Given the description of an element on the screen output the (x, y) to click on. 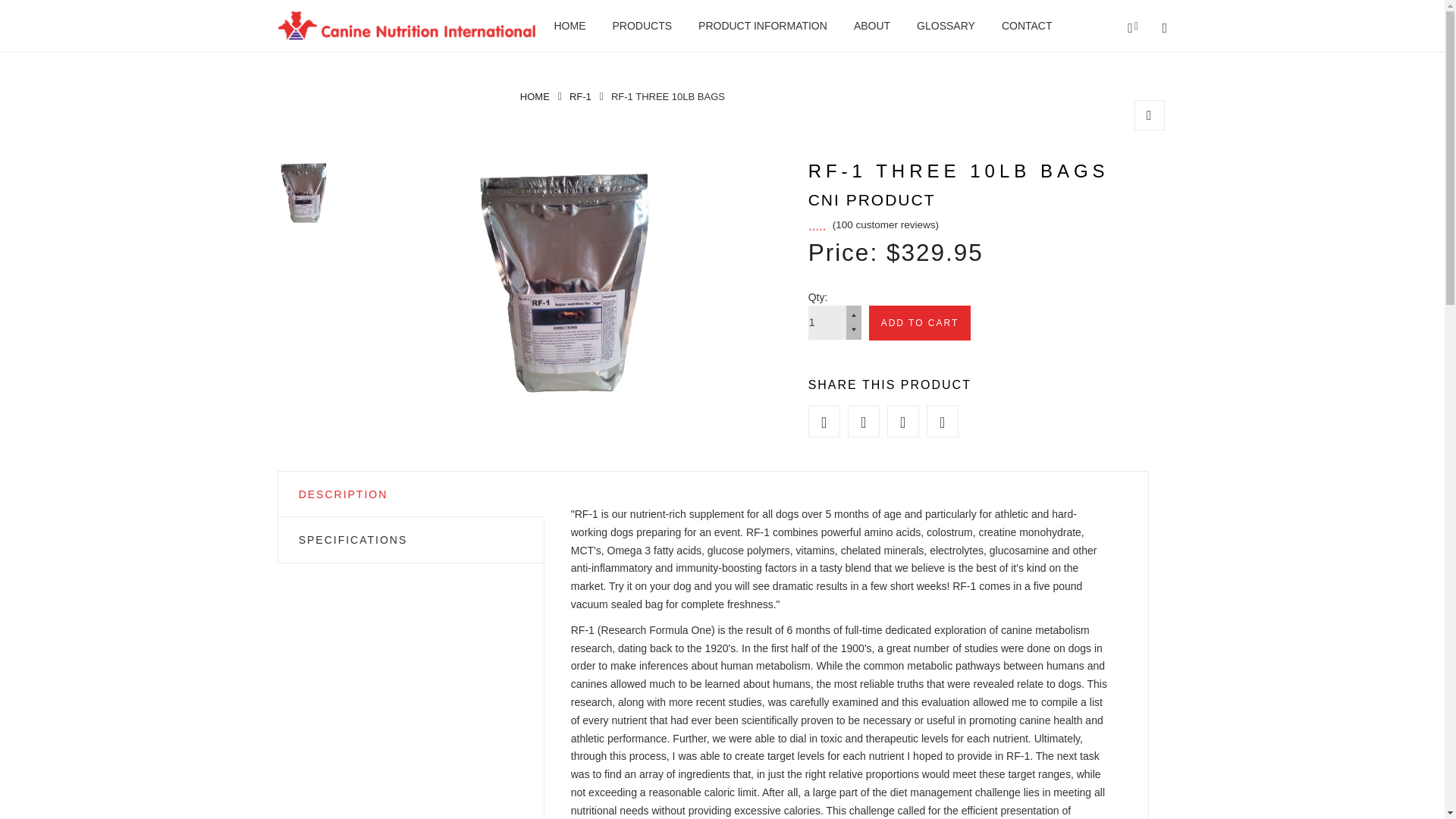
HOME (534, 96)
Rated 5 out of 5 (873, 224)
Rf-1 10lb bag (1149, 114)
CONTACT (1026, 25)
PRODUCTS (642, 25)
RF-1 (580, 96)
HOME (569, 25)
Qty (826, 322)
1 (826, 322)
Canine Nutrition International (534, 96)
Canine Nutrition International (406, 25)
GLOSSARY (946, 25)
ABOUT (871, 25)
ADD TO CART (920, 322)
PRODUCT INFORMATION (762, 25)
